Given the description of an element on the screen output the (x, y) to click on. 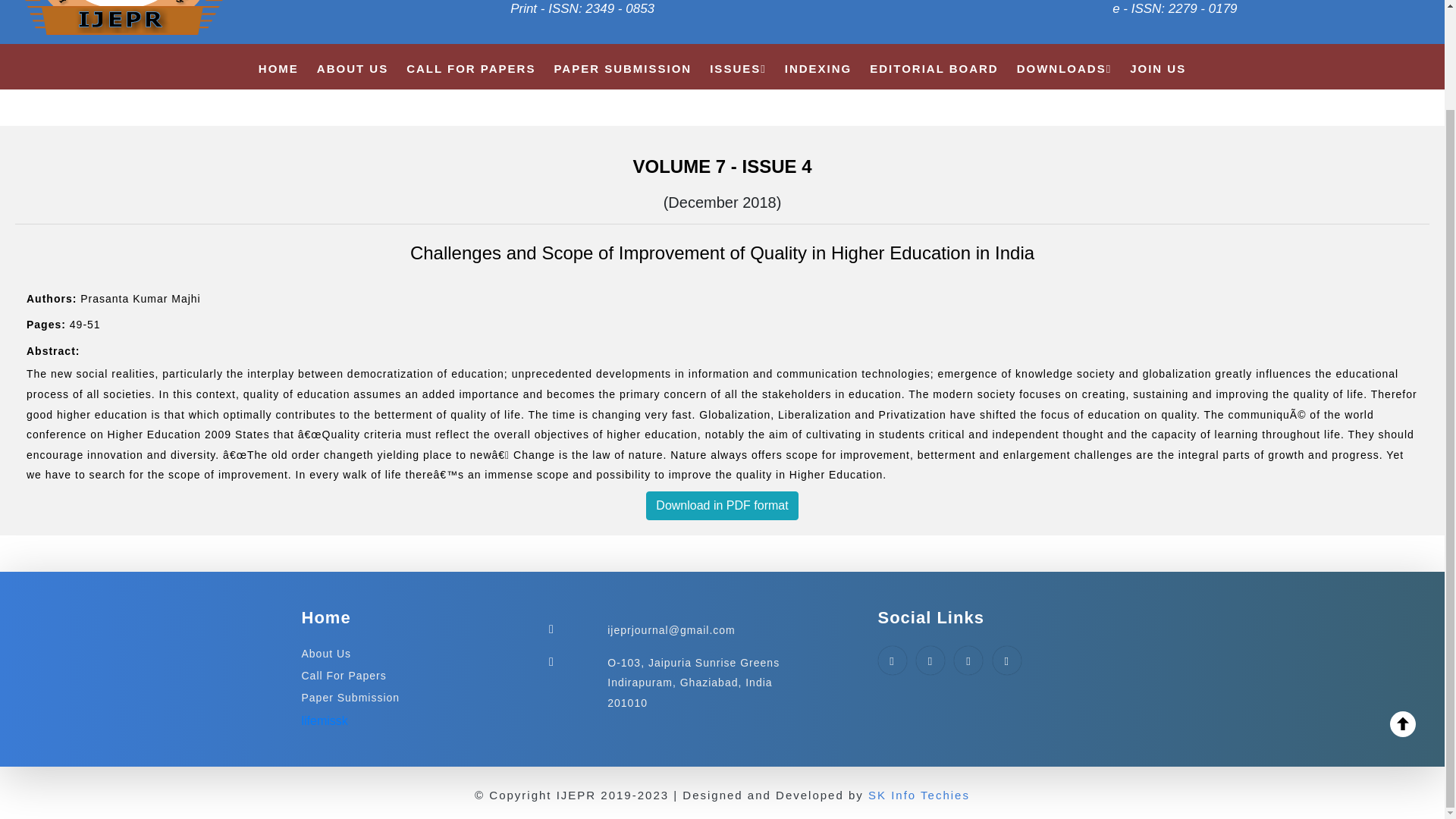
Paper Submission (350, 697)
lifemissk (324, 720)
HOME (278, 68)
ISSUES (738, 68)
Call For Papers (344, 675)
ABOUT US (352, 68)
PAPER SUBMISSION (622, 68)
About Us (326, 653)
CALL FOR PAPERS (470, 68)
